Given the description of an element on the screen output the (x, y) to click on. 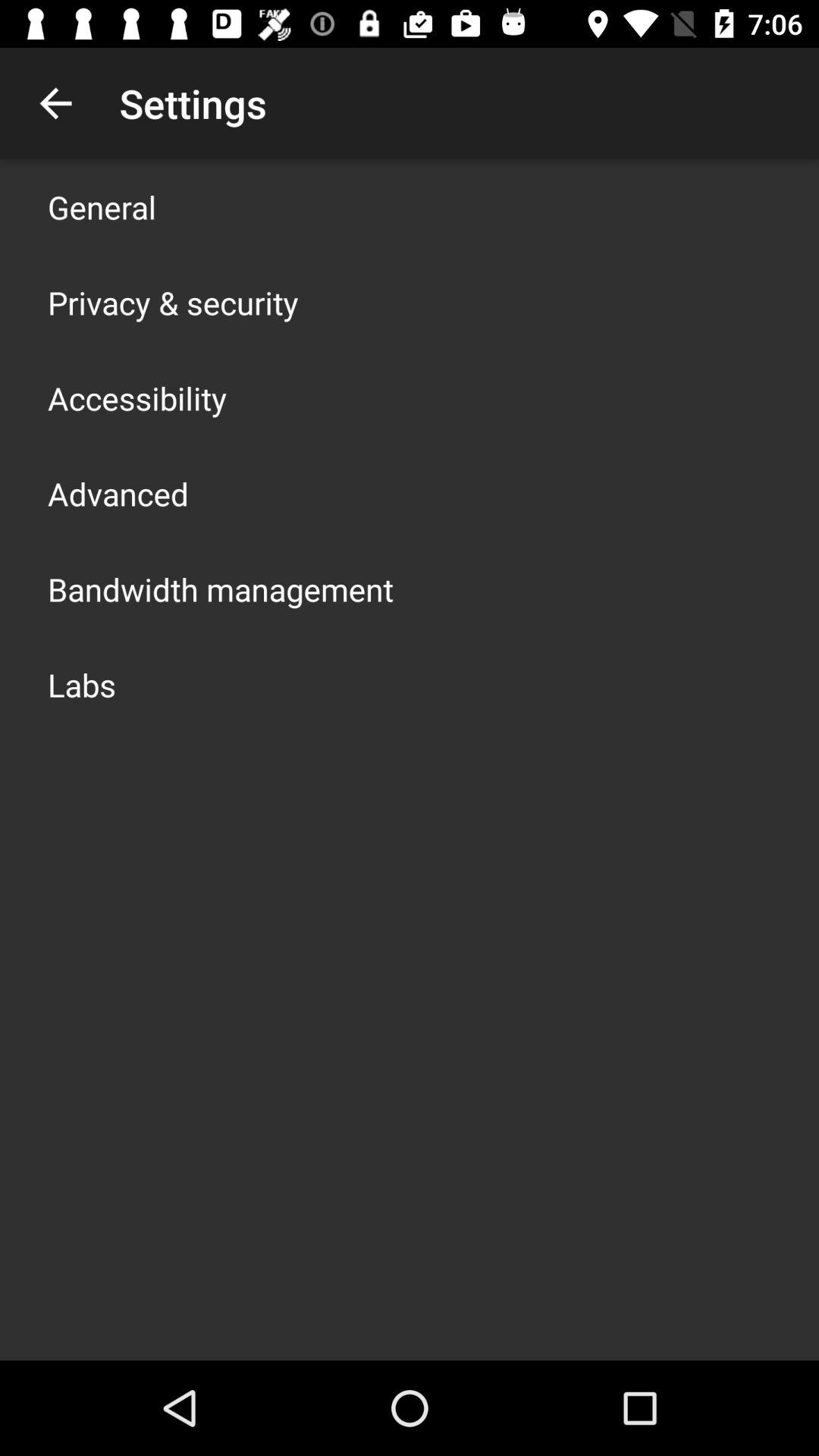
turn off the general icon (101, 206)
